Given the description of an element on the screen output the (x, y) to click on. 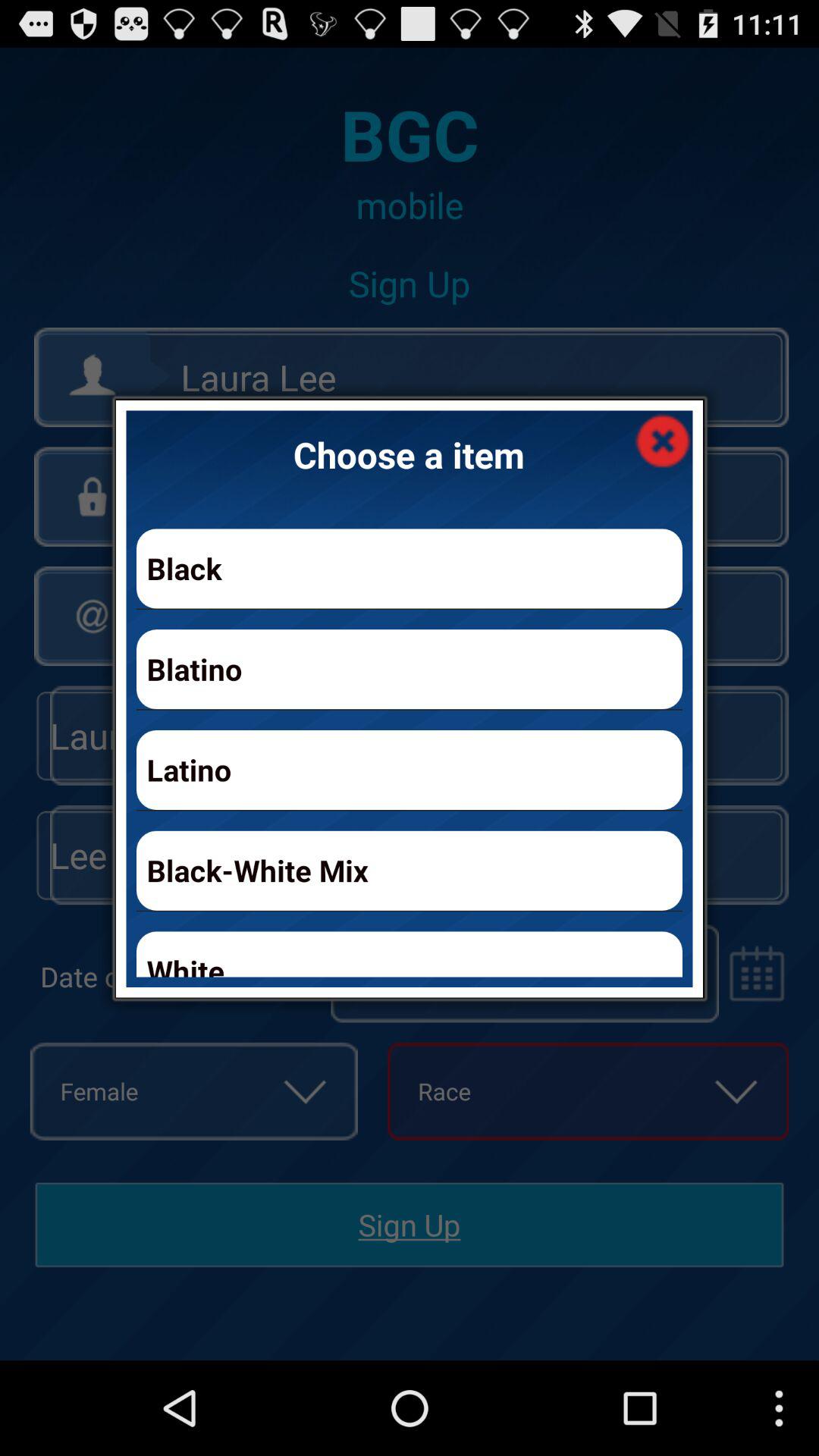
jump to the black-white mix app (409, 870)
